Given the description of an element on the screen output the (x, y) to click on. 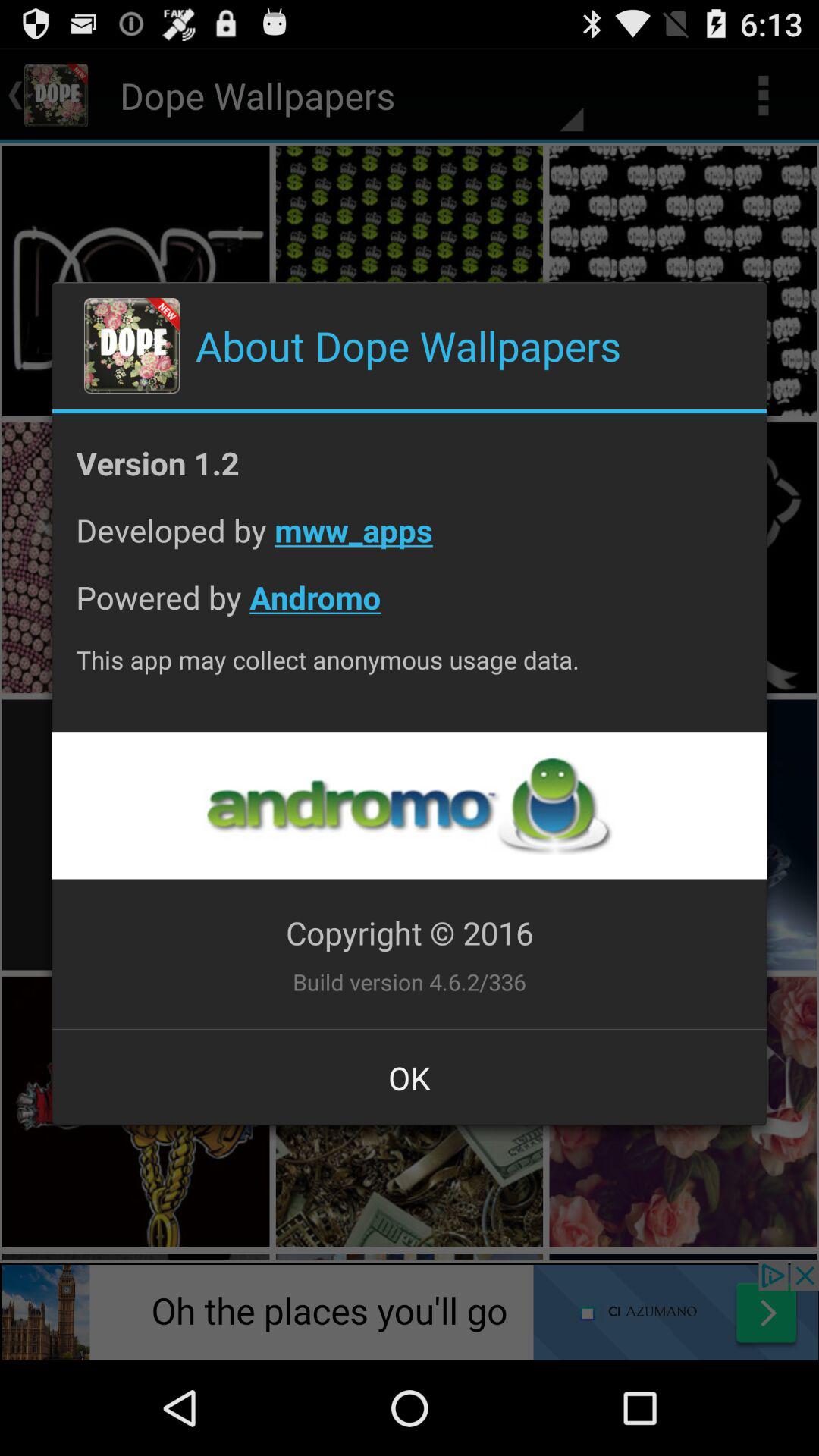
choose developed by mww_apps icon (409, 541)
